Given the description of an element on the screen output the (x, y) to click on. 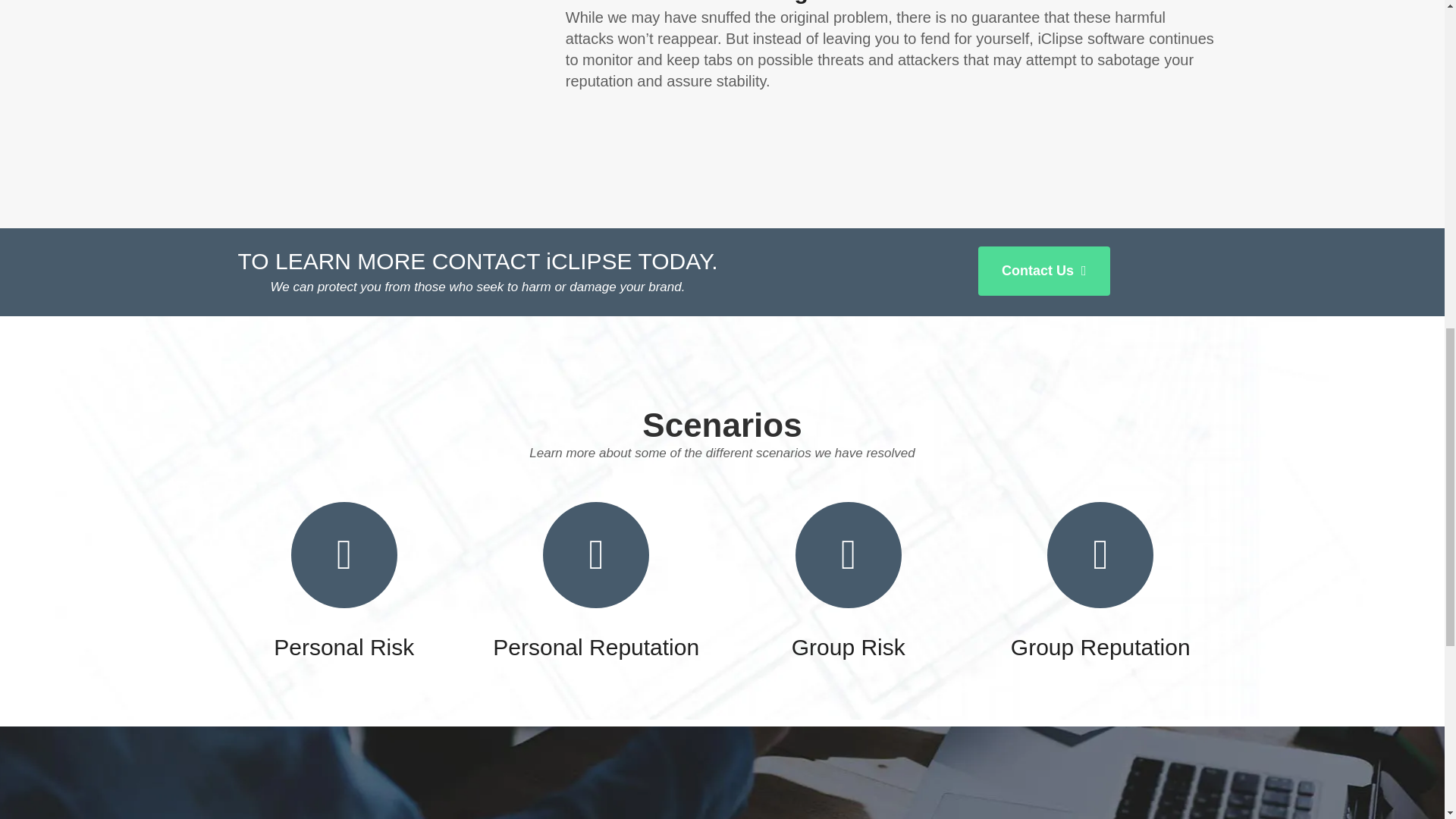
Contact Us (1043, 270)
